Given the description of an element on the screen output the (x, y) to click on. 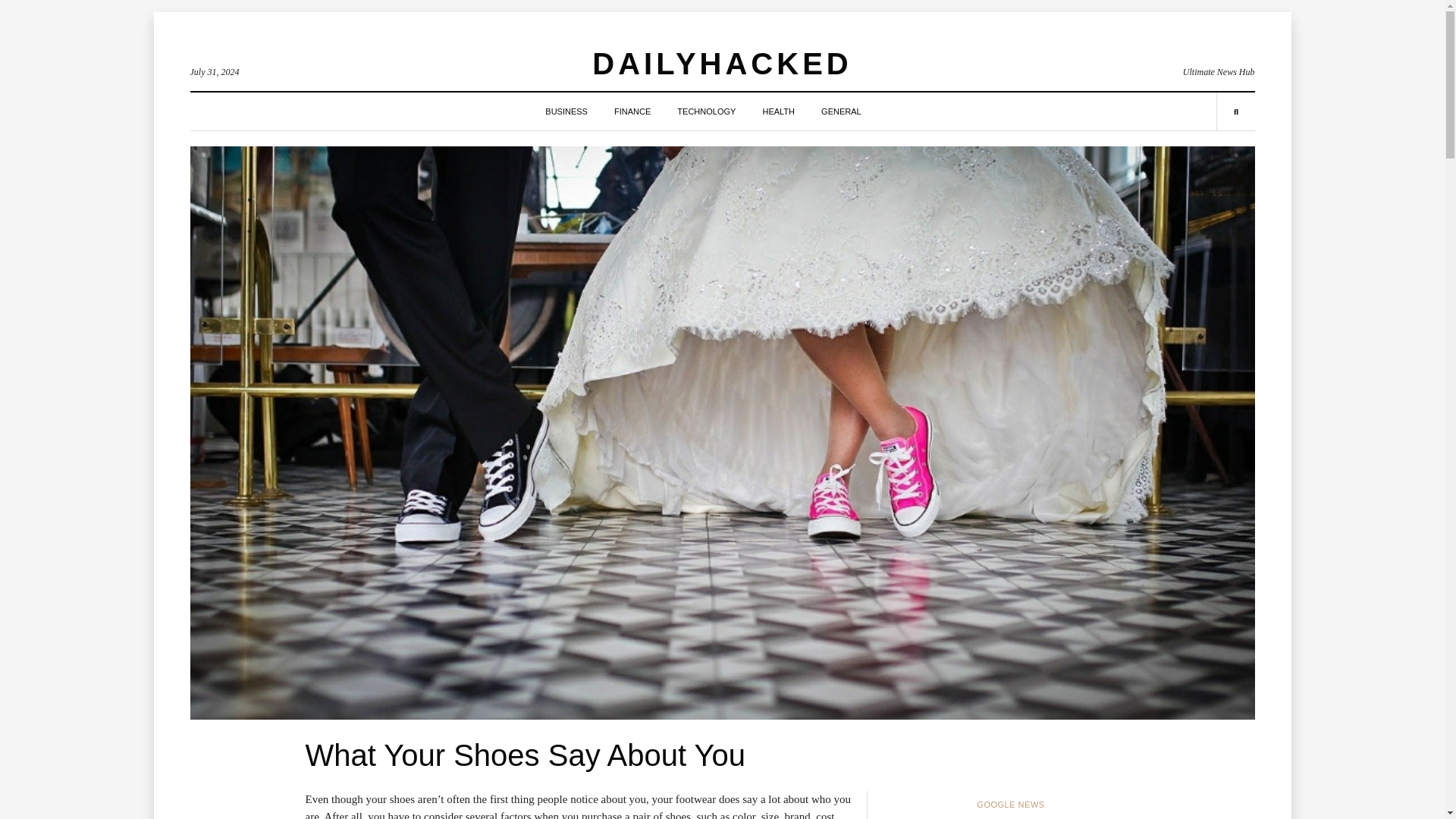
TECHNOLOGY (706, 111)
GENERAL (841, 111)
FINANCE (632, 111)
BUSINESS (566, 111)
DAILYHACKED (721, 63)
